Given the description of an element on the screen output the (x, y) to click on. 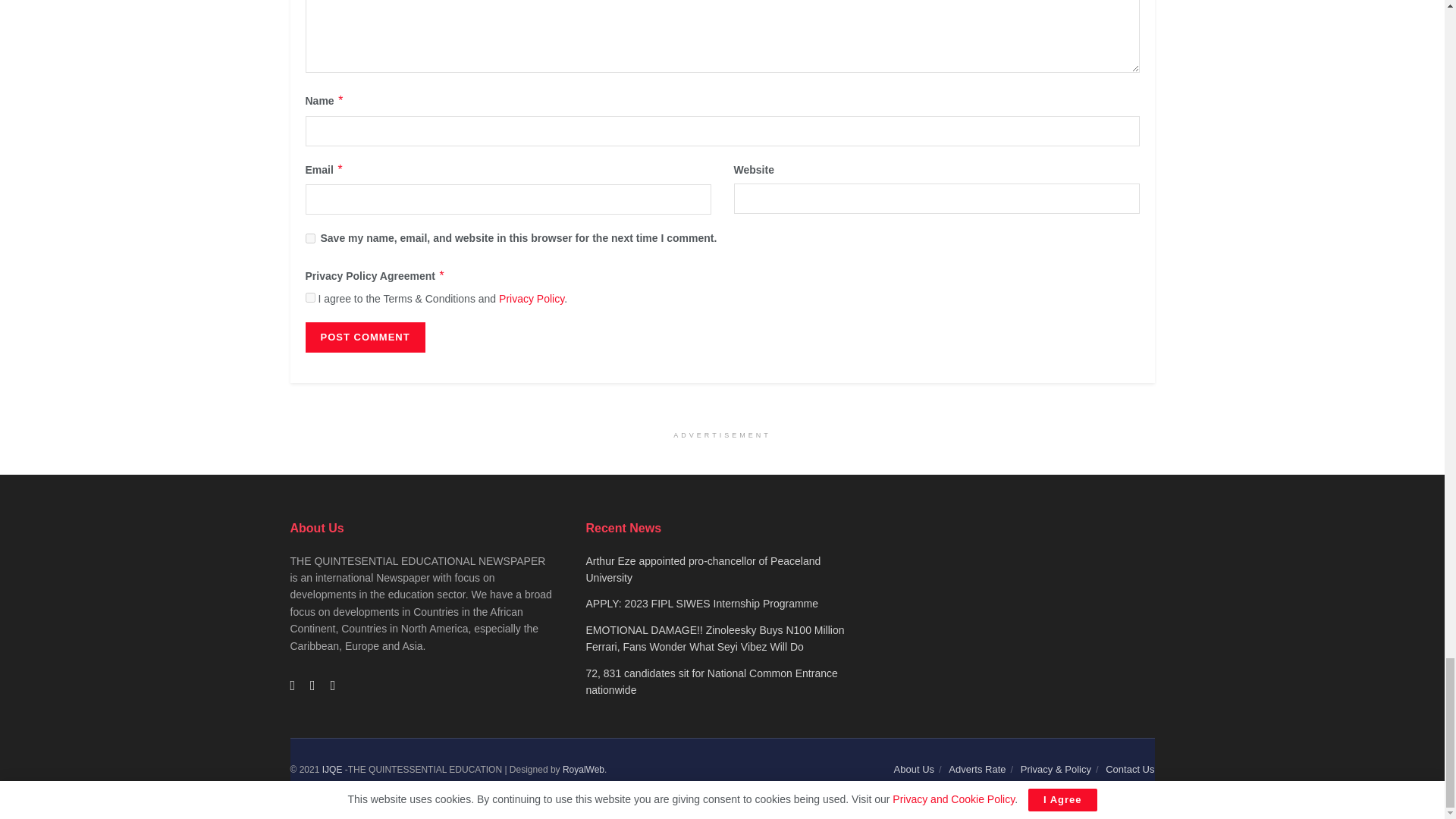
THE QUINTESSENTIAL EDUCATION (331, 769)
yes (309, 238)
on (309, 297)
Post Comment (364, 337)
RoyalWeb (583, 769)
